Given the description of an element on the screen output the (x, y) to click on. 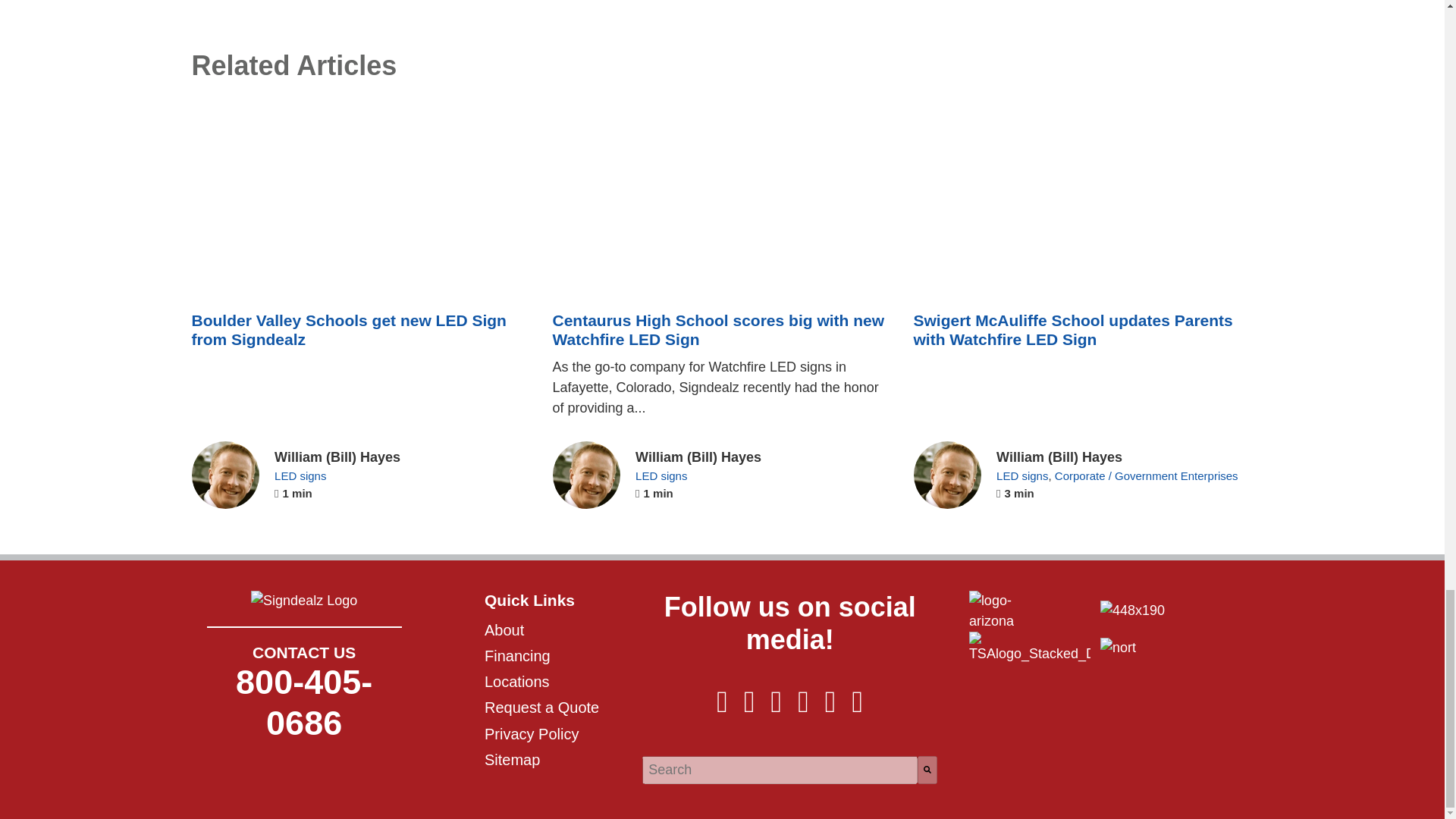
Youtube (777, 707)
Pinterest (857, 707)
Linkedin (803, 707)
448x190 (1132, 610)
Twitter (721, 707)
nort (1117, 648)
Instagram (749, 707)
logo-arizona (1011, 610)
Facebook (830, 707)
